Given the description of an element on the screen output the (x, y) to click on. 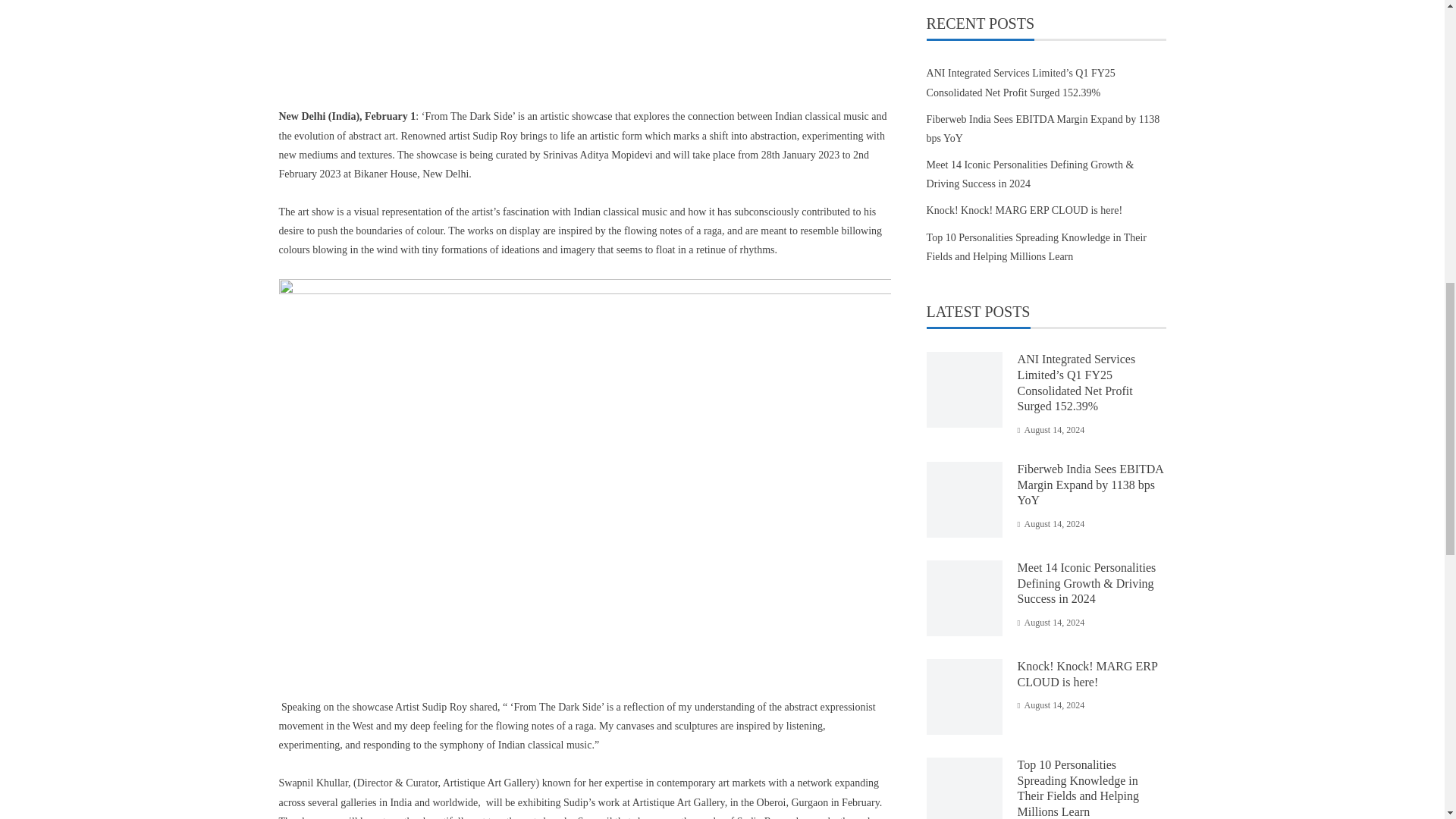
Knock! Knock! MARG ERP CLOUD is here! (1024, 210)
Fiberweb India Sees EBITDA Margin Expand by 1138 bps YoY (1043, 128)
Knock! Knock! MARG ERP CLOUD is here! (1087, 674)
Fiberweb India Sees EBITDA Margin Expand by 1138 bps YoY (1090, 484)
